Given the description of an element on the screen output the (x, y) to click on. 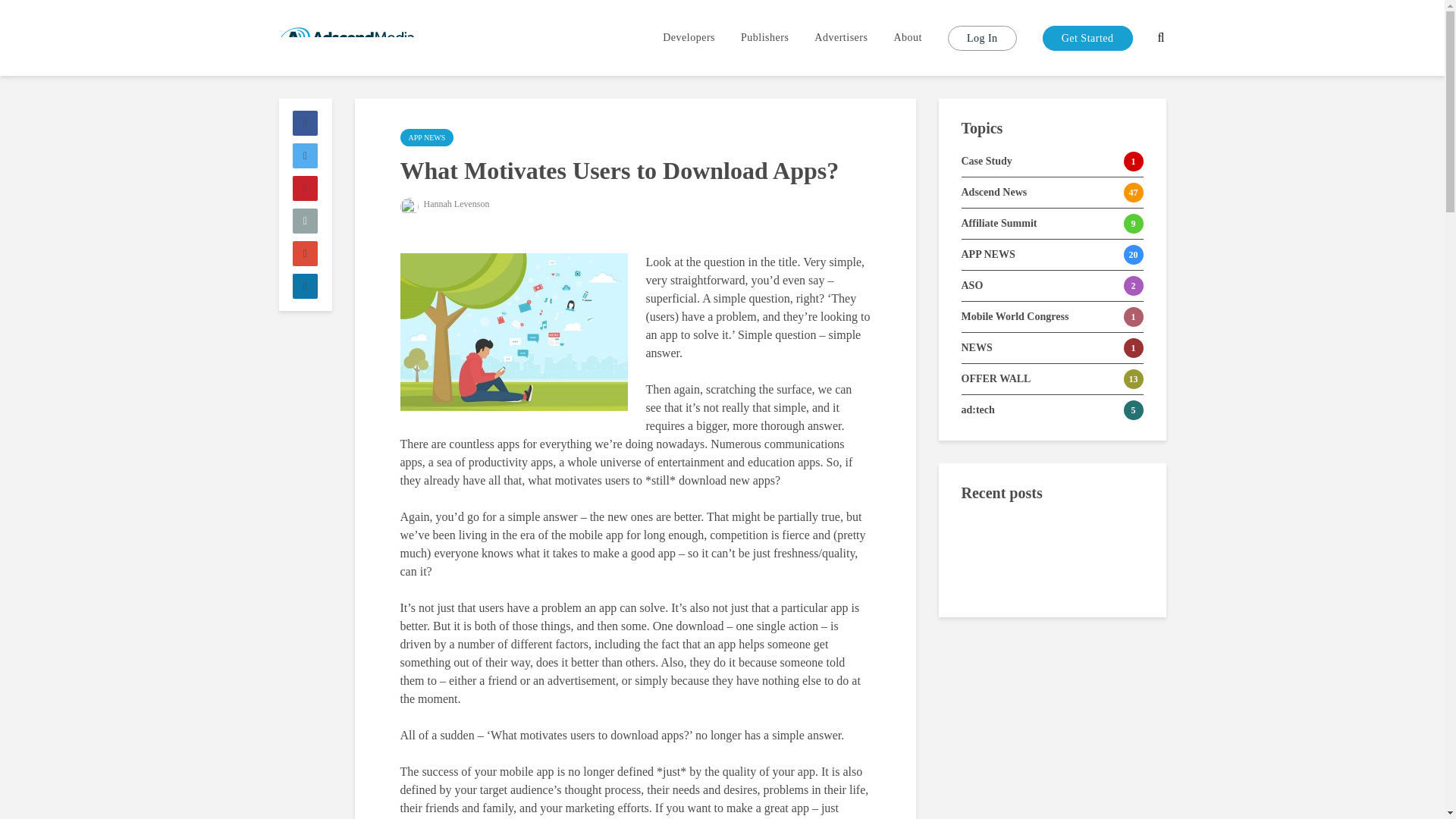
Advertisers (841, 37)
Get Started (1087, 37)
About (907, 37)
Developers (688, 37)
Log In (981, 37)
Publishers (764, 37)
Hannah Levenson (444, 204)
APP NEWS (427, 137)
